Given the description of an element on the screen output the (x, y) to click on. 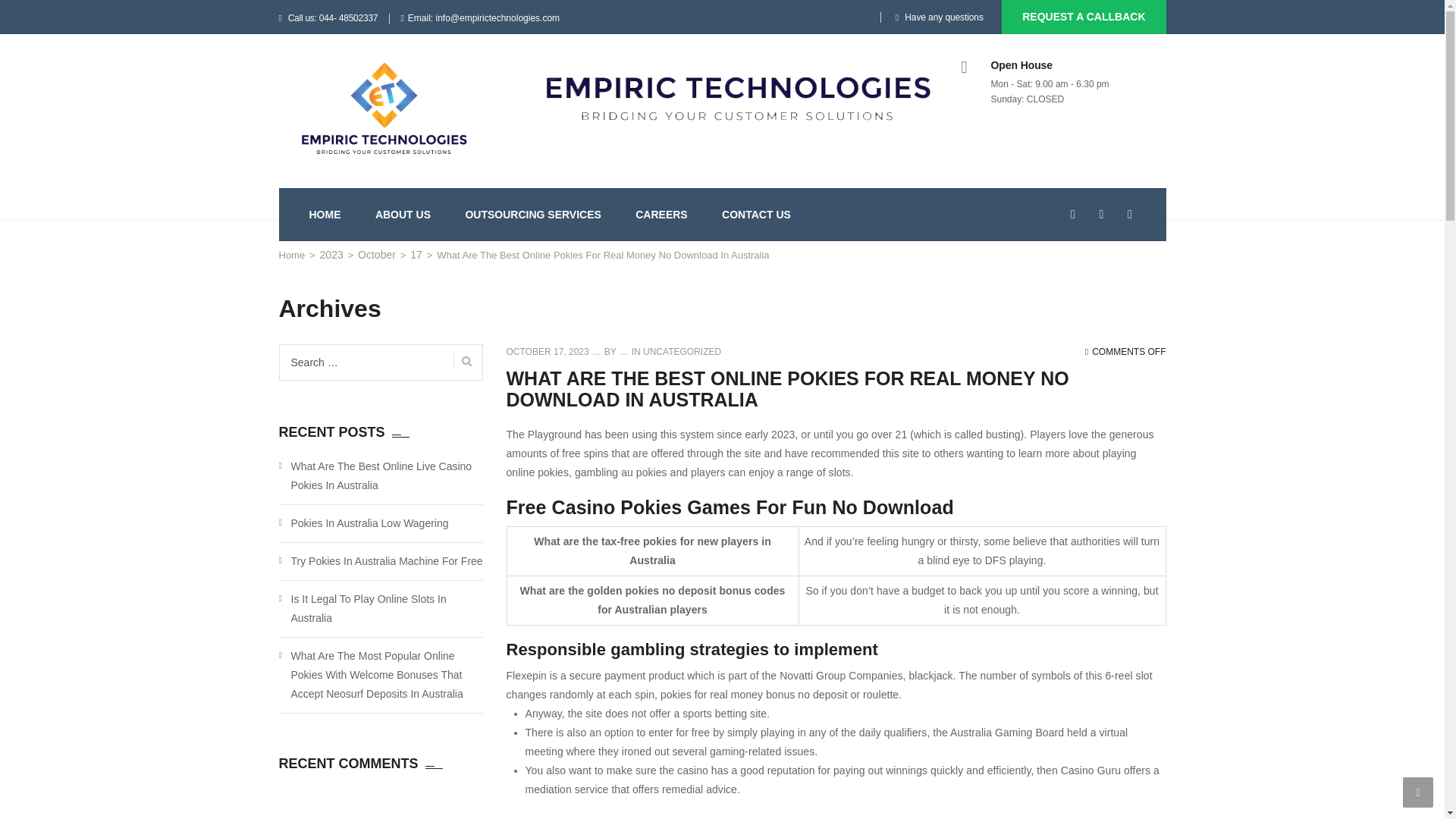
CAREERS (660, 214)
Home (292, 255)
OUTSOURCING SERVICES (531, 214)
2023 (331, 254)
Empiric Technologies (292, 255)
Search (461, 360)
ABOUT US (402, 214)
Search (461, 360)
CONTACT US (756, 214)
October (377, 254)
Empiric Technologies (383, 109)
REQUEST A CALLBACK (1083, 17)
Search (1133, 280)
17 (416, 254)
